Given the description of an element on the screen output the (x, y) to click on. 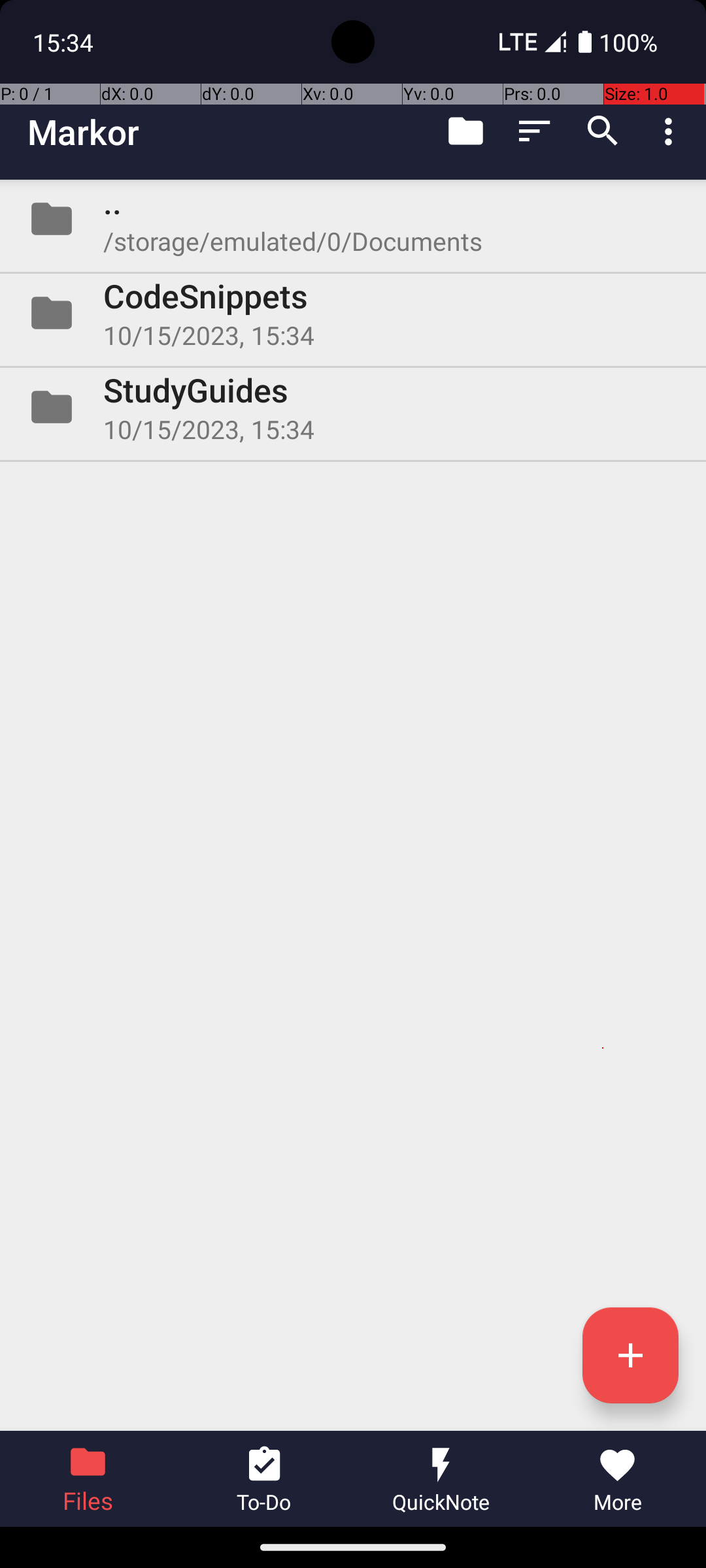
Folder CodeSnippets  Element type: android.widget.LinearLayout (353, 312)
Folder StudyGuides  Element type: android.widget.LinearLayout (353, 406)
